Given the description of an element on the screen output the (x, y) to click on. 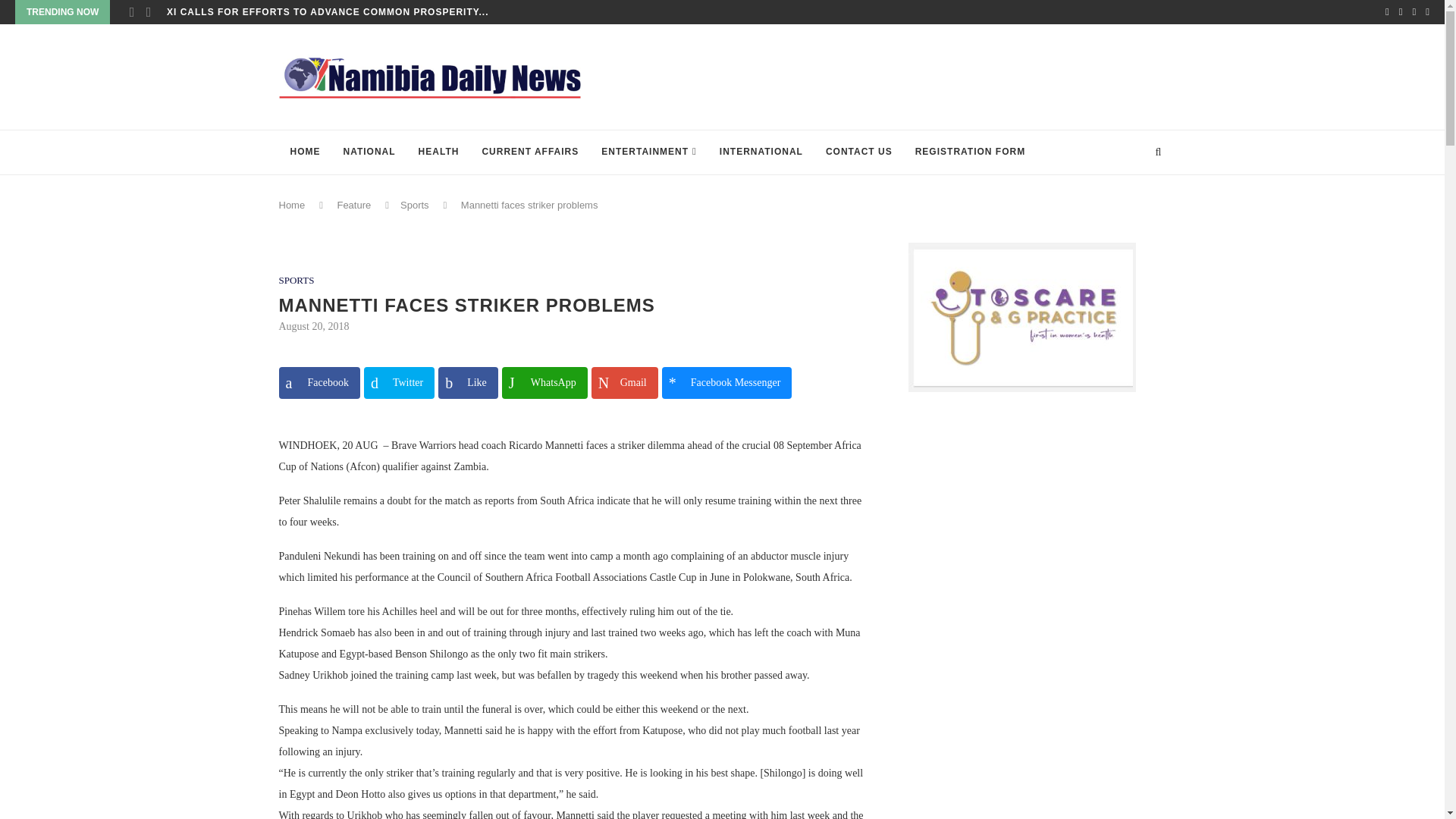
Share on Facebook (319, 382)
Share on Facebook Messenger (727, 382)
Share on WhatsApp (545, 382)
XI CALLS FOR EFFORTS TO ADVANCE COMMON PROSPERITY... (327, 12)
Share on Gmail (624, 382)
Share on Like (467, 382)
Share on Twitter (398, 382)
